Given the description of an element on the screen output the (x, y) to click on. 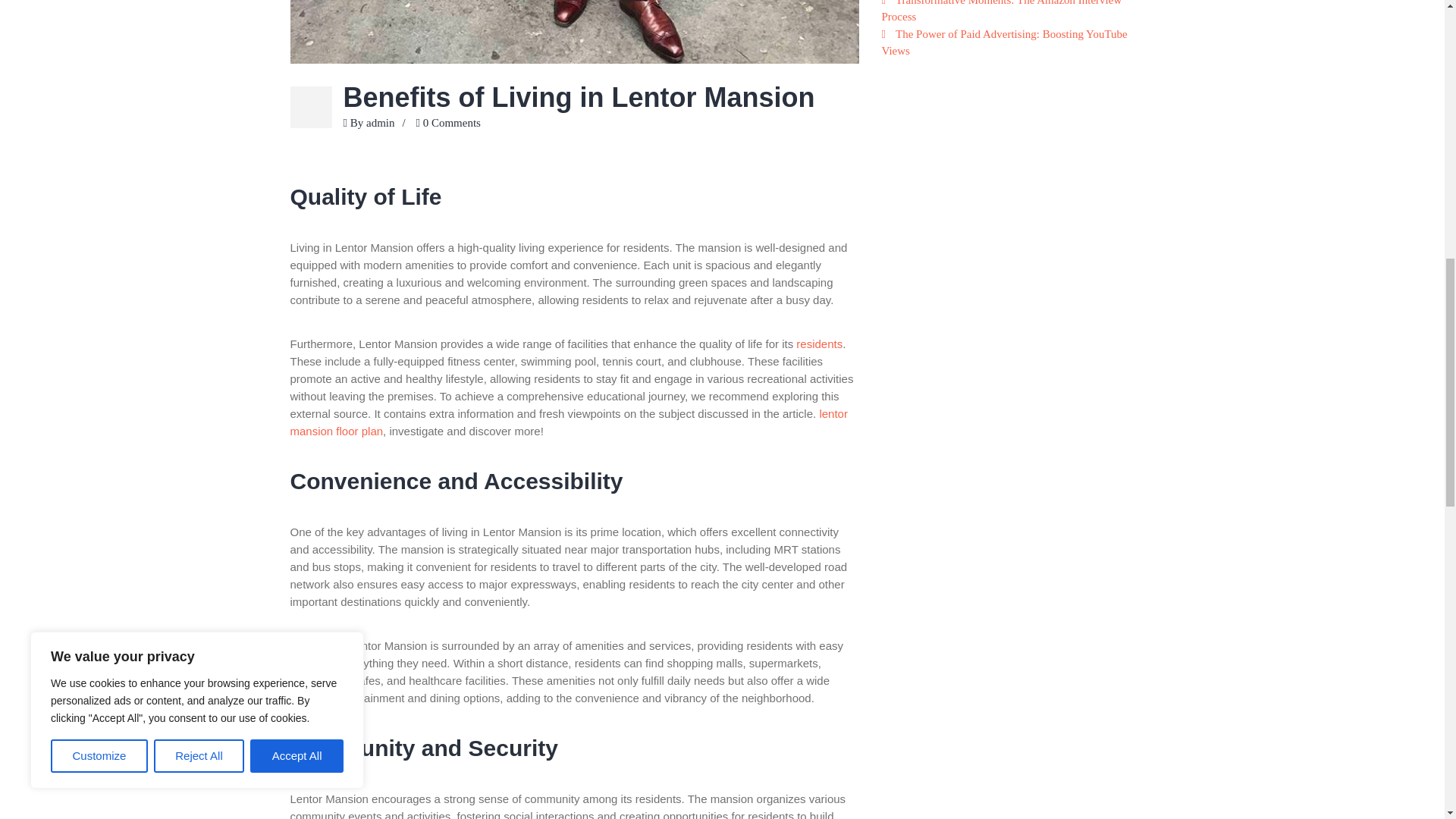
lentor mansion floor plan (568, 421)
residents (819, 342)
0 Comments (451, 122)
admin (380, 122)
